Given the description of an element on the screen output the (x, y) to click on. 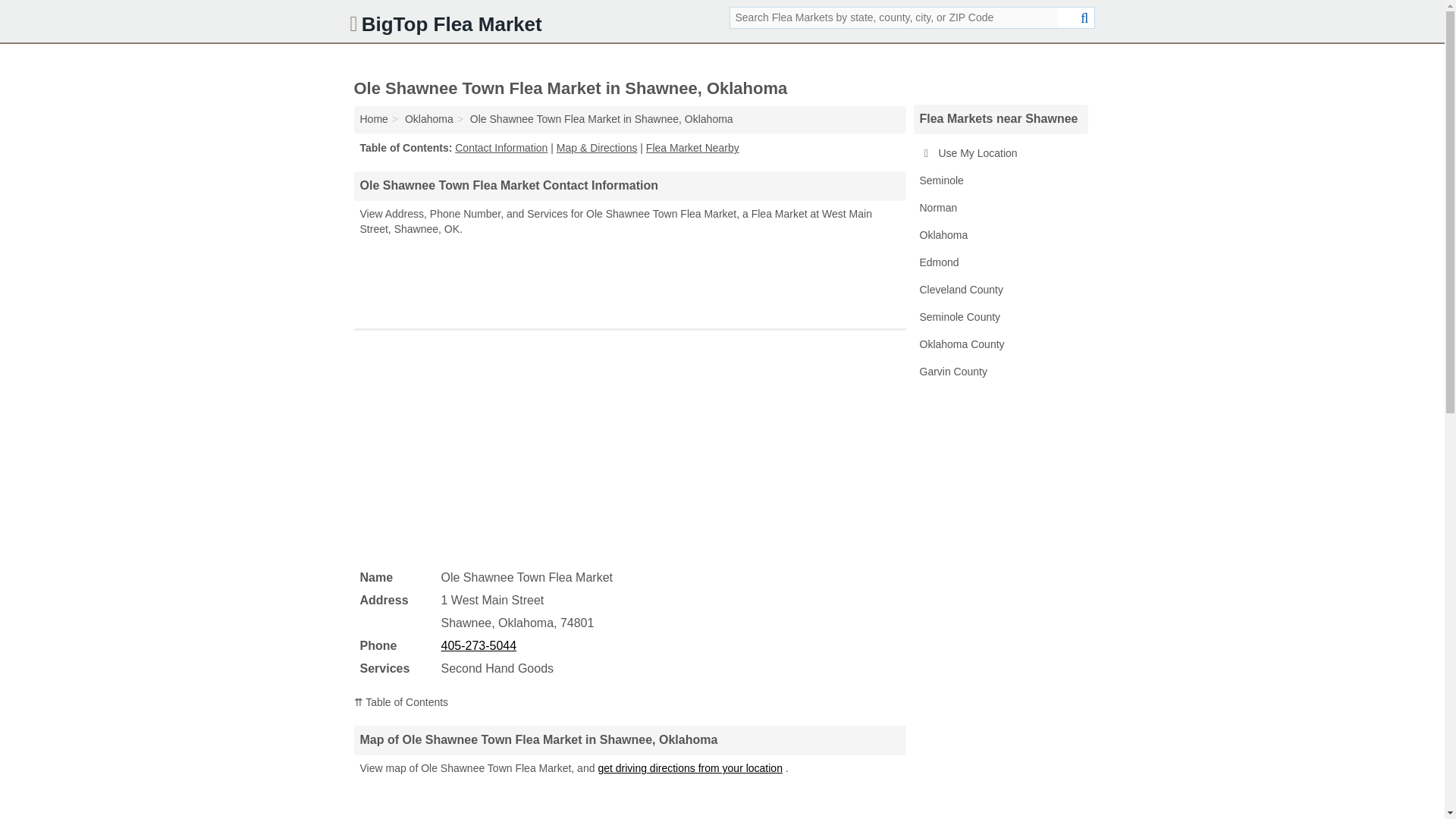
Flea Markets Near Me (999, 153)
get driving directions from your location (689, 767)
Ole Shawnee Town Flea Market in Shawnee, Oklahoma (601, 119)
Traders Market in Seminole, Oklahoma (999, 180)
Oklahoma (999, 235)
BigTop Flea Market (373, 119)
Oklahoma (428, 119)
405-273-5044 (478, 645)
Garvin County (999, 371)
Edmond (999, 262)
Flea Markets in Edmond, OK (999, 262)
Flea Markets in Oklahoma, OK (999, 235)
Ole Shawnee Town Flea Market in Shawnee, Oklahoma (601, 119)
Use My Location (999, 153)
Seminole County (999, 317)
